Given the description of an element on the screen output the (x, y) to click on. 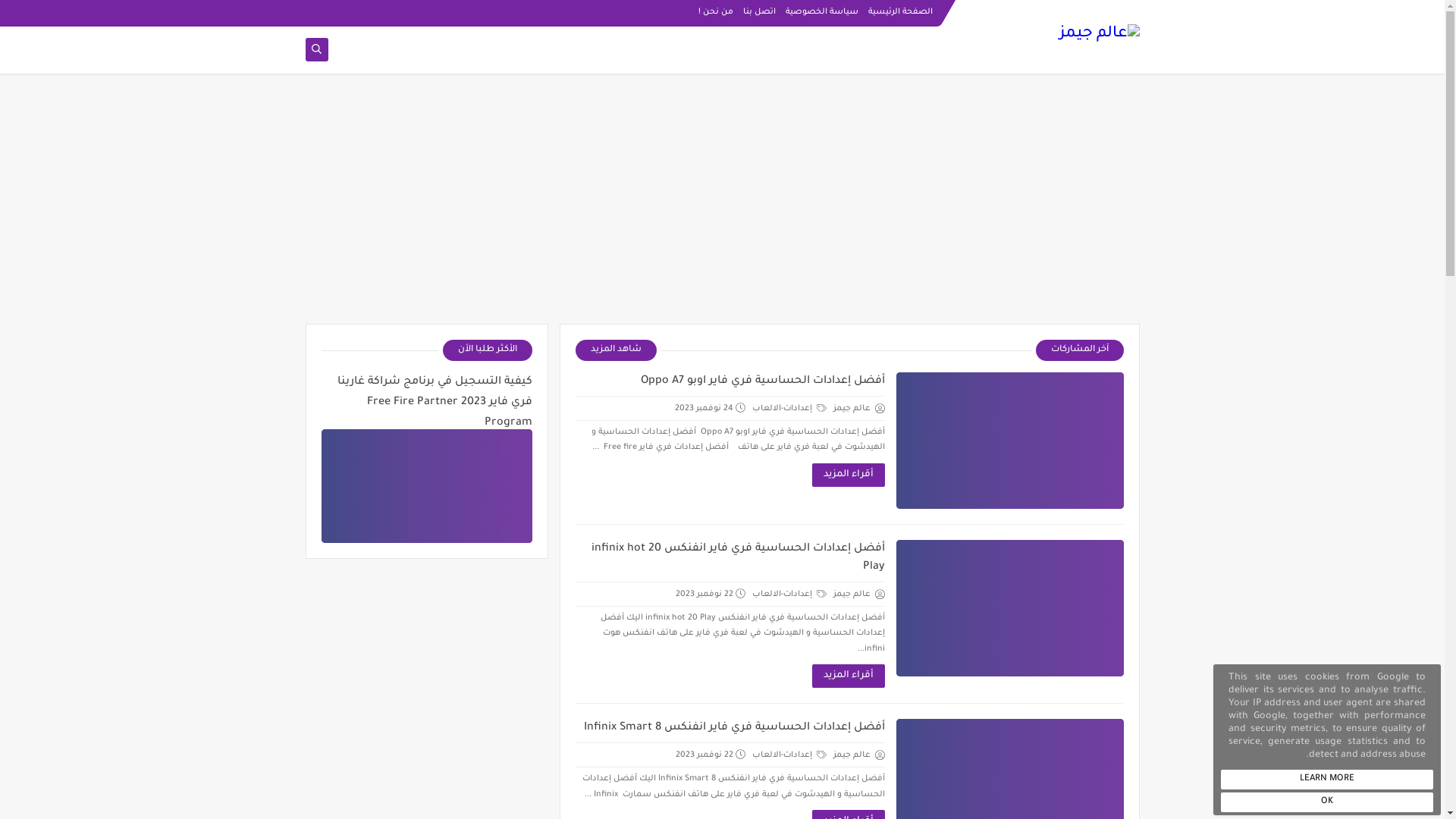
Advertisement Element type: hover (721, 206)
OK Element type: text (1326, 802)
LEARN MORE Element type: text (1326, 779)
